Given the description of an element on the screen output the (x, y) to click on. 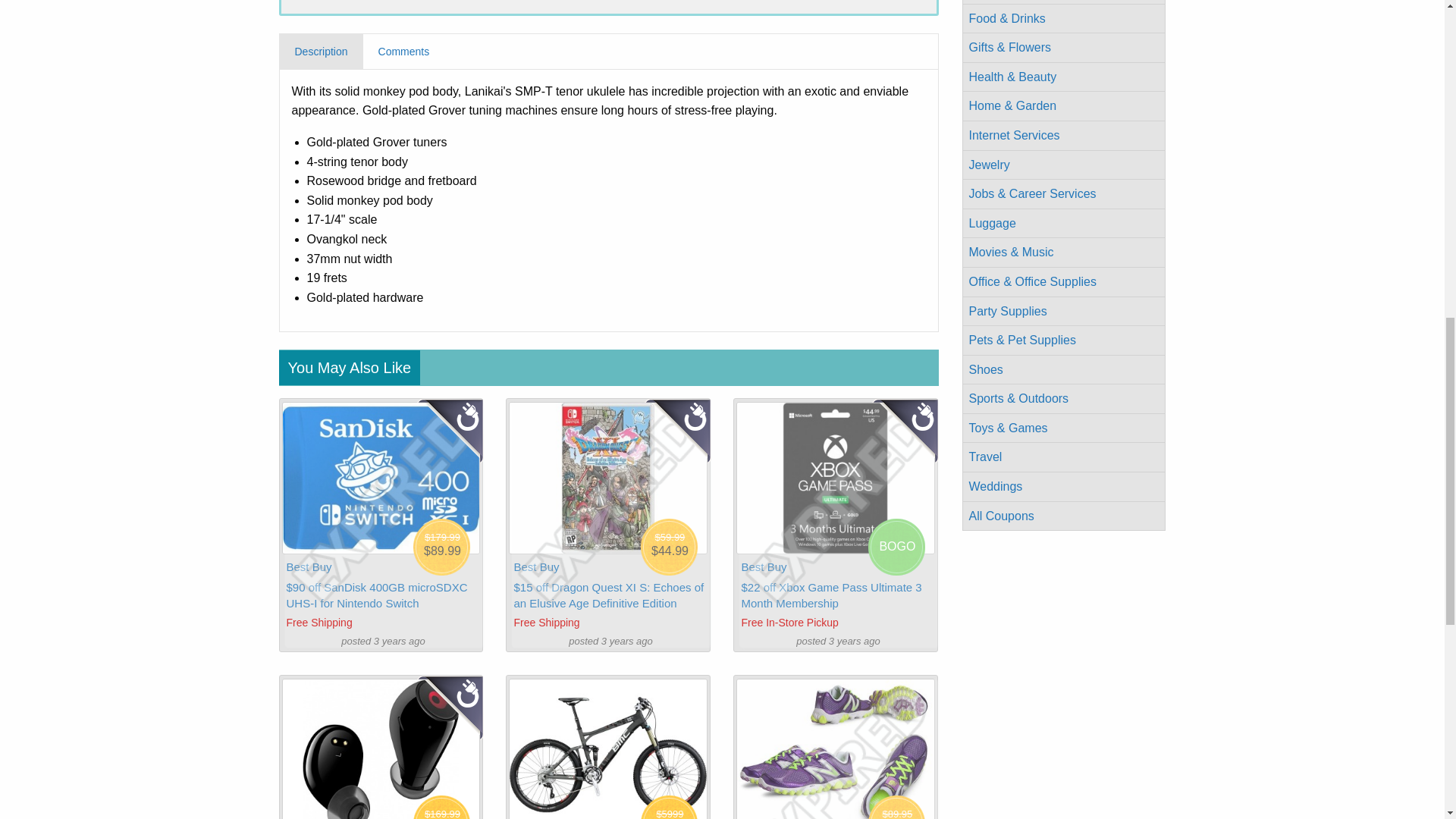
Best Buy Coupons (536, 566)
Best Buy Coupons (763, 566)
Best Buy Coupons (308, 566)
